Given the description of an element on the screen output the (x, y) to click on. 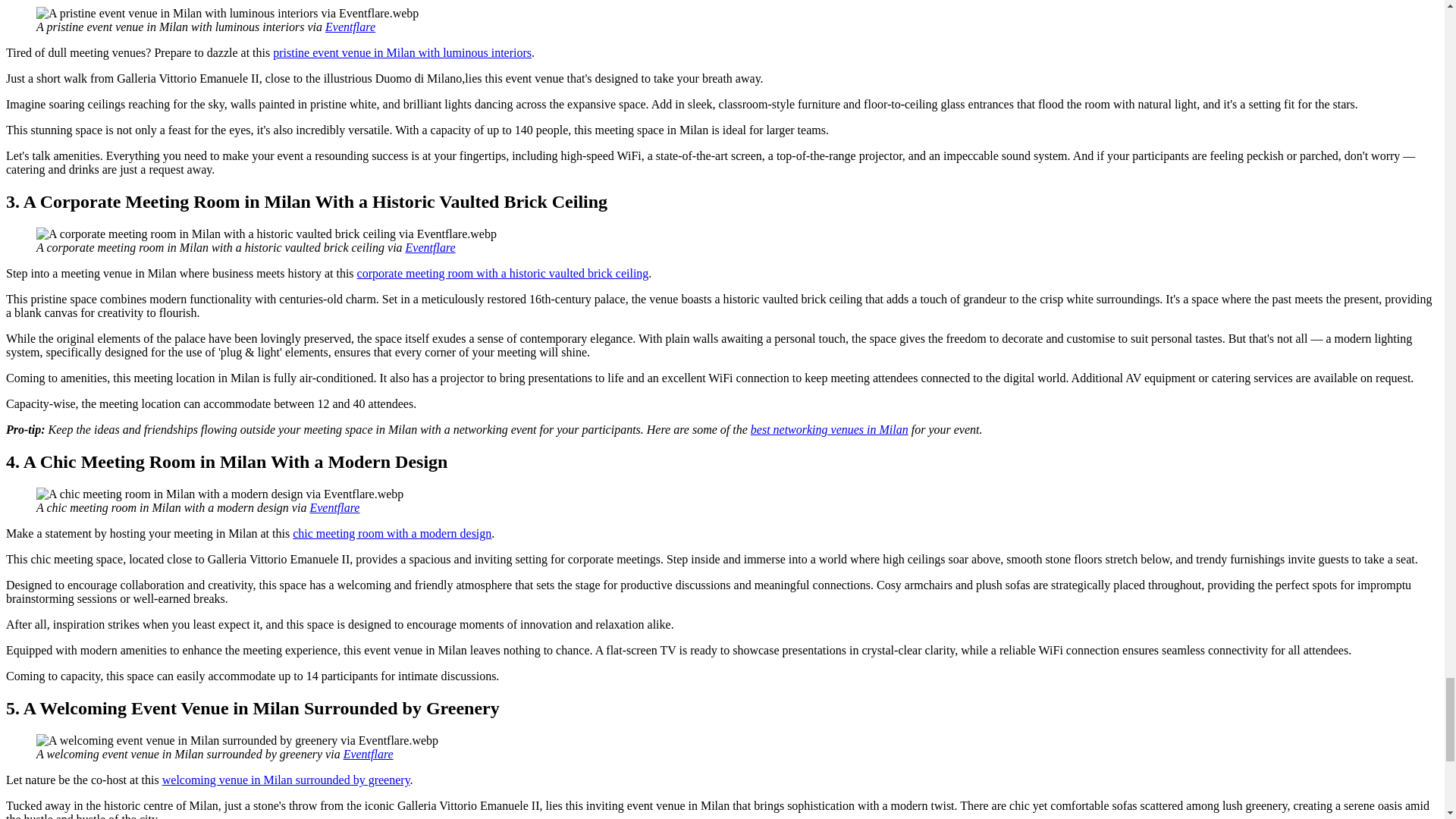
pristine event venue in Milan with luminous interiors (402, 51)
Eventflare (368, 753)
Eventflare (430, 246)
chic meeting room with a modern design (392, 533)
Eventflare (349, 26)
Eventflare (333, 507)
corporate meeting room with a historic vaulted brick ceiling (502, 273)
welcoming venue in Milan surrounded by greenery (285, 779)
best networking venues in Milan (829, 429)
